Given the description of an element on the screen output the (x, y) to click on. 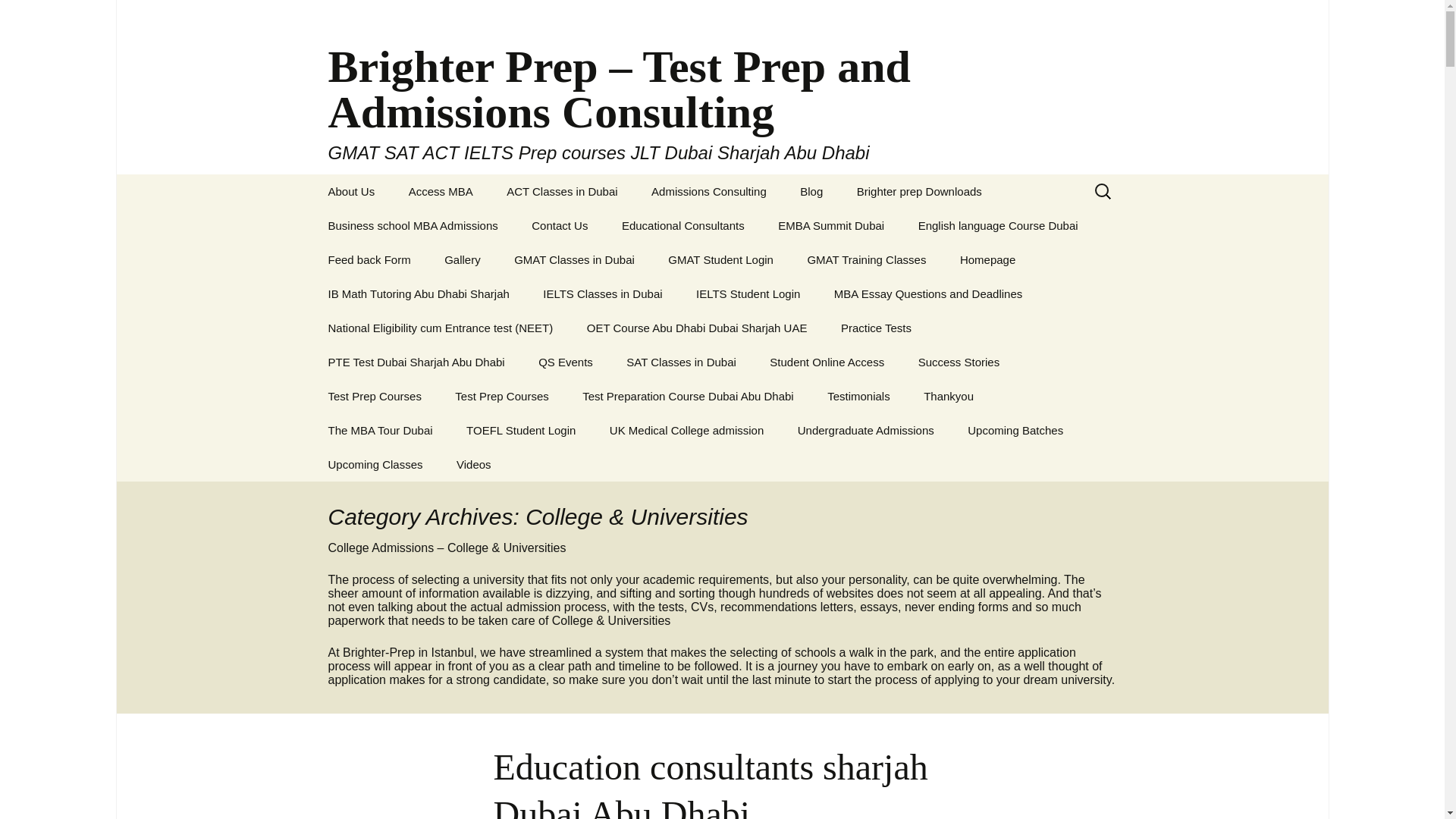
Our Team (388, 225)
ACT Classes in Dubai (561, 191)
Homepage (987, 259)
Test Prep Courses (374, 396)
Business school MBA Admissions (412, 225)
PTE Test Dubai Sharjah Abu Dhabi (416, 361)
Gallery (462, 259)
SAT Classes in Dubai (681, 361)
About Us (351, 191)
